Given the description of an element on the screen output the (x, y) to click on. 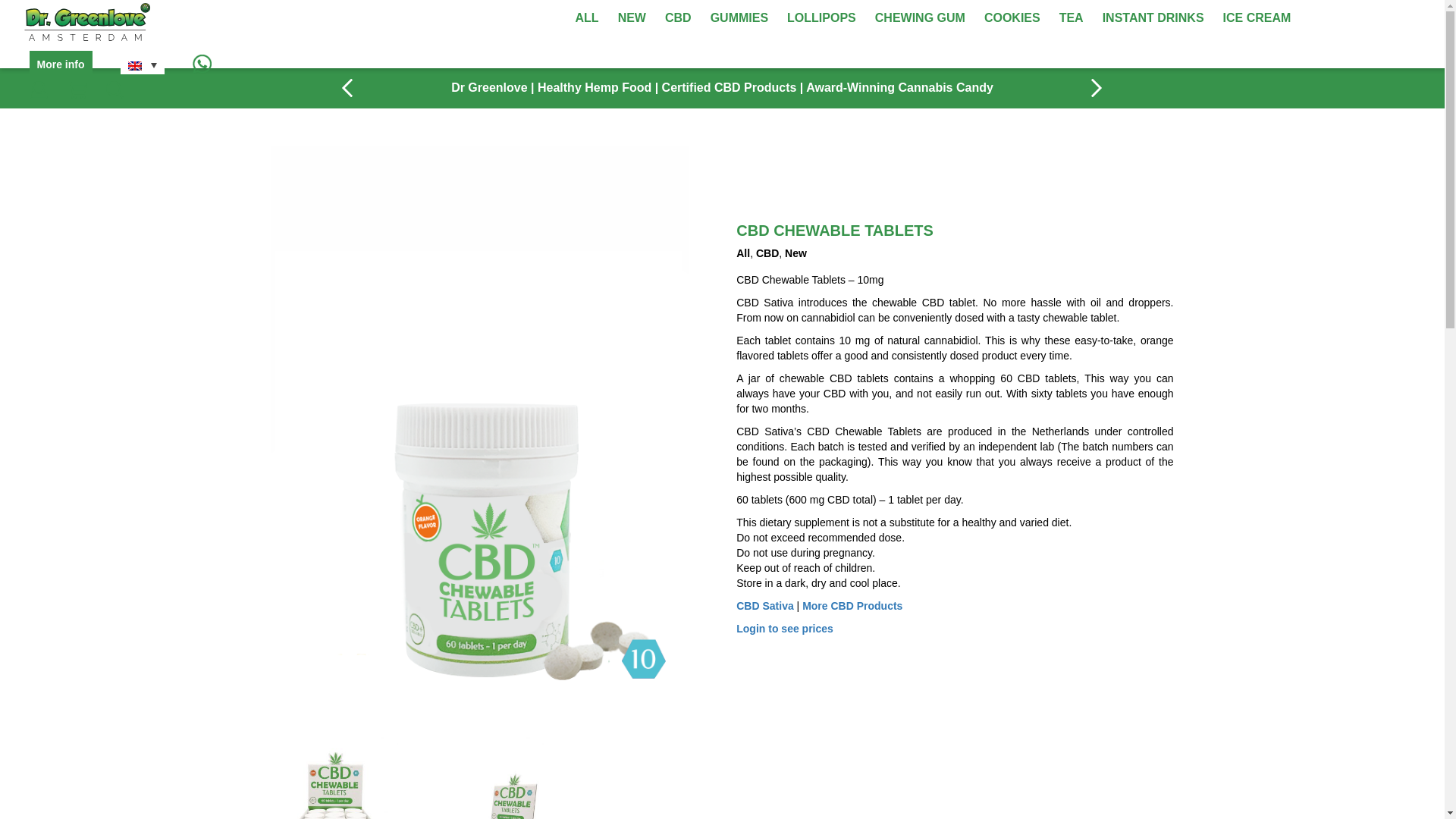
GUMMIES (739, 17)
LOLLIPOPS (821, 17)
All (742, 253)
New (795, 253)
ALL (586, 17)
My Account (363, 493)
CBD (766, 253)
CHEWING GUM (920, 17)
COOKIES (1012, 17)
Privacy Policy (369, 545)
Customer Service (378, 510)
COOKIES (1012, 17)
CBD (678, 17)
NEW (631, 17)
CHEWING GUM (920, 17)
